Given the description of an element on the screen output the (x, y) to click on. 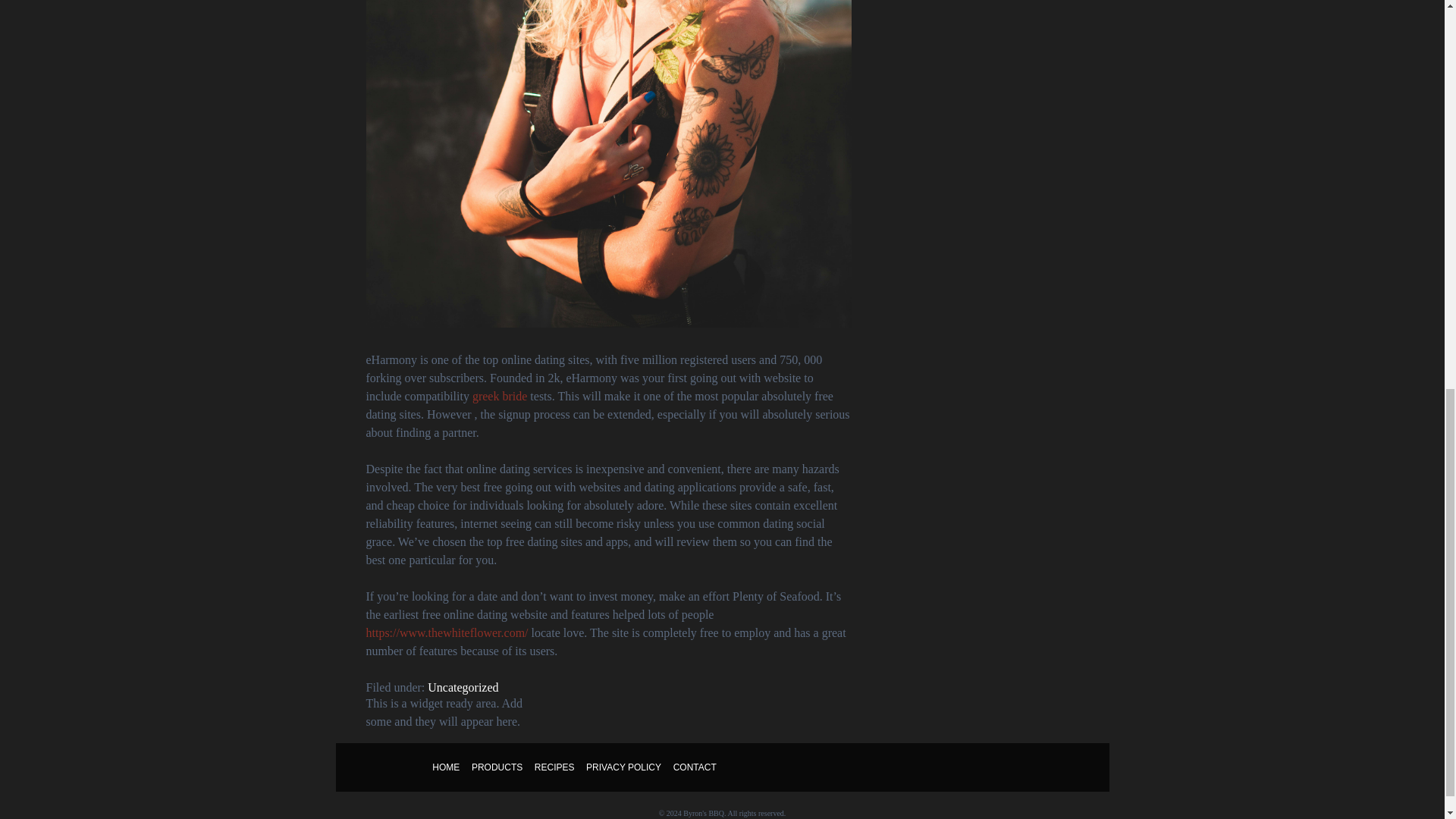
Uncategorized (462, 686)
HOME (445, 768)
RECIPES (553, 768)
CONTACT (694, 768)
greek bride (499, 395)
PRIVACY POLICY (622, 768)
PRODUCTS (496, 768)
